Given the description of an element on the screen output the (x, y) to click on. 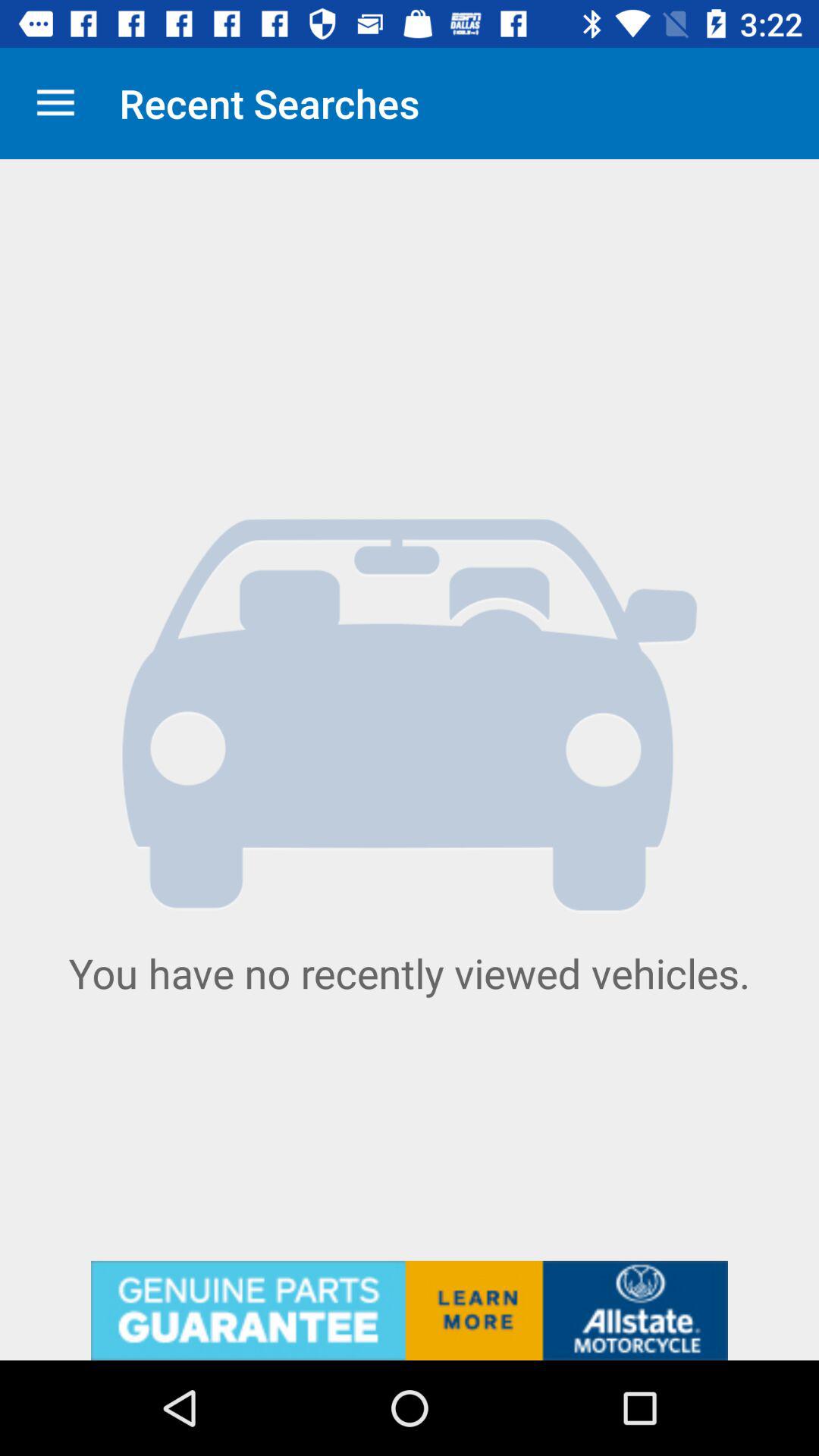
click allstate advertisement (409, 1310)
